Given the description of an element on the screen output the (x, y) to click on. 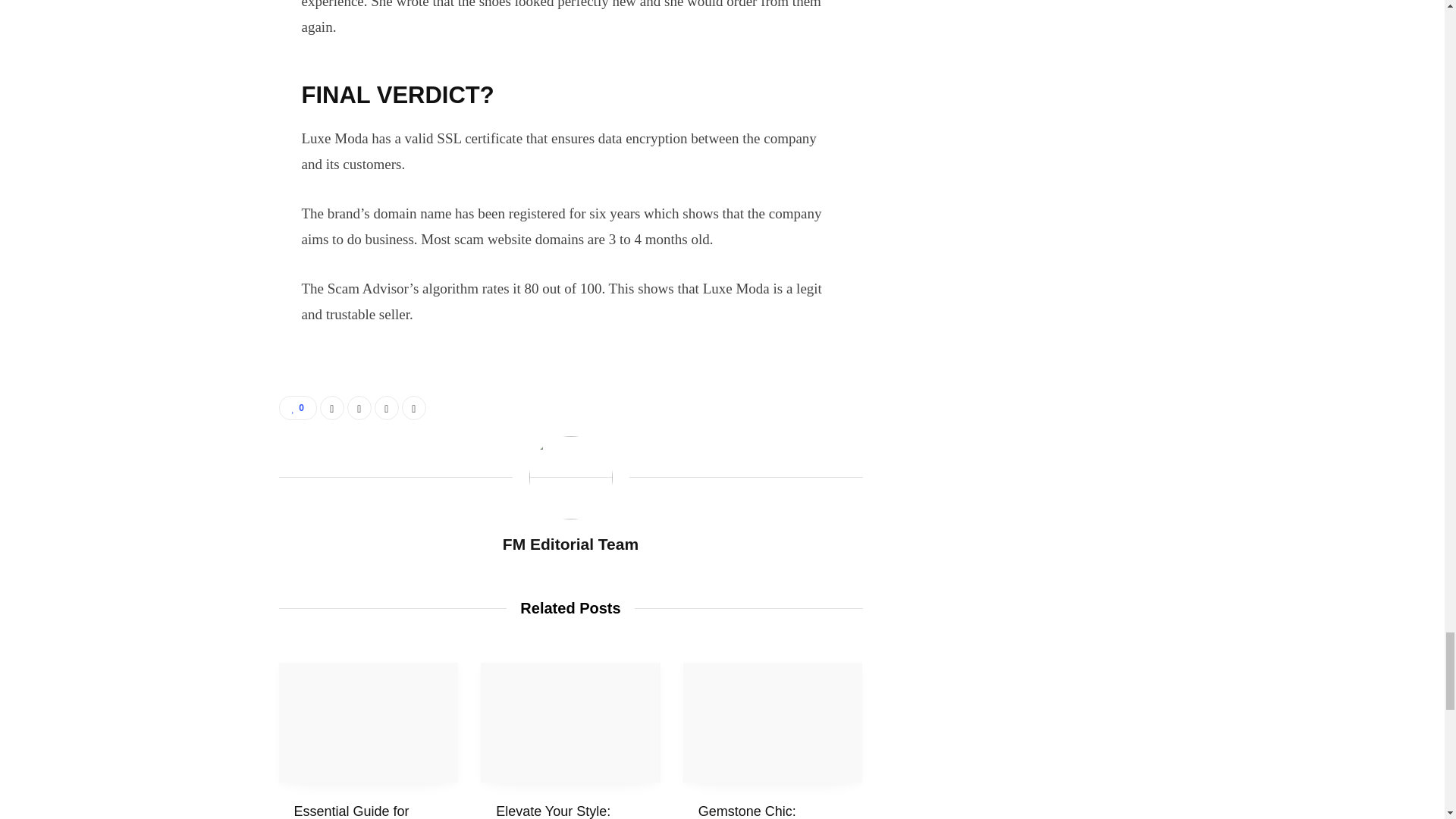
Pinterest (413, 407)
0 (298, 407)
Essential Guide for Men: How to Wear a Bomber Jacket (356, 811)
FM Editorial Team (570, 544)
Posts by FM Editorial Team (570, 544)
Elevate Your Style: Fashioning Any Outfit (561, 811)
Share on Facebook (331, 407)
Elevate Your Style: Fashioning Any Outfit (570, 722)
LinkedIn (386, 407)
